Given the description of an element on the screen output the (x, y) to click on. 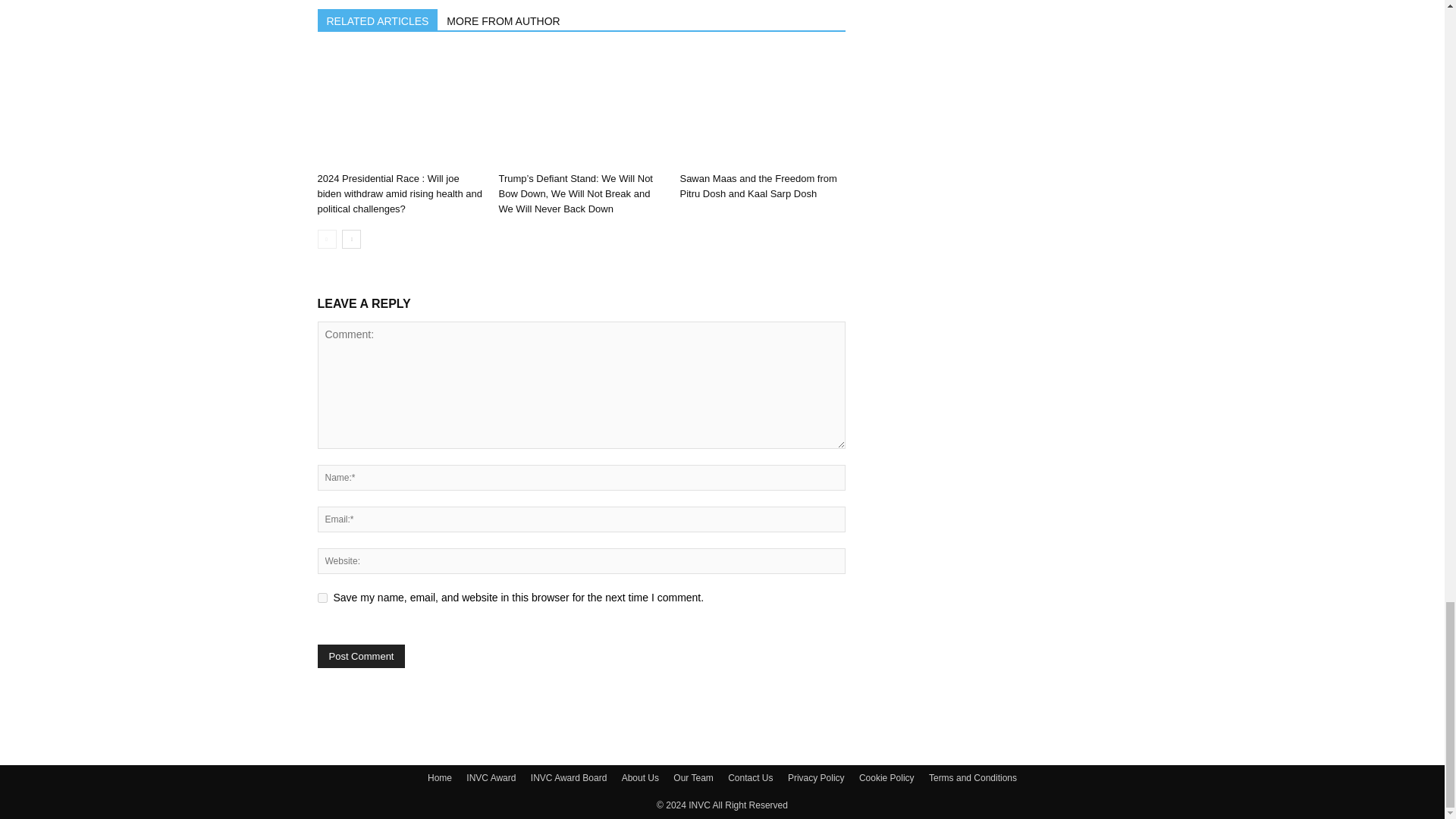
Post Comment (360, 656)
yes (321, 597)
